Given the description of an element on the screen output the (x, y) to click on. 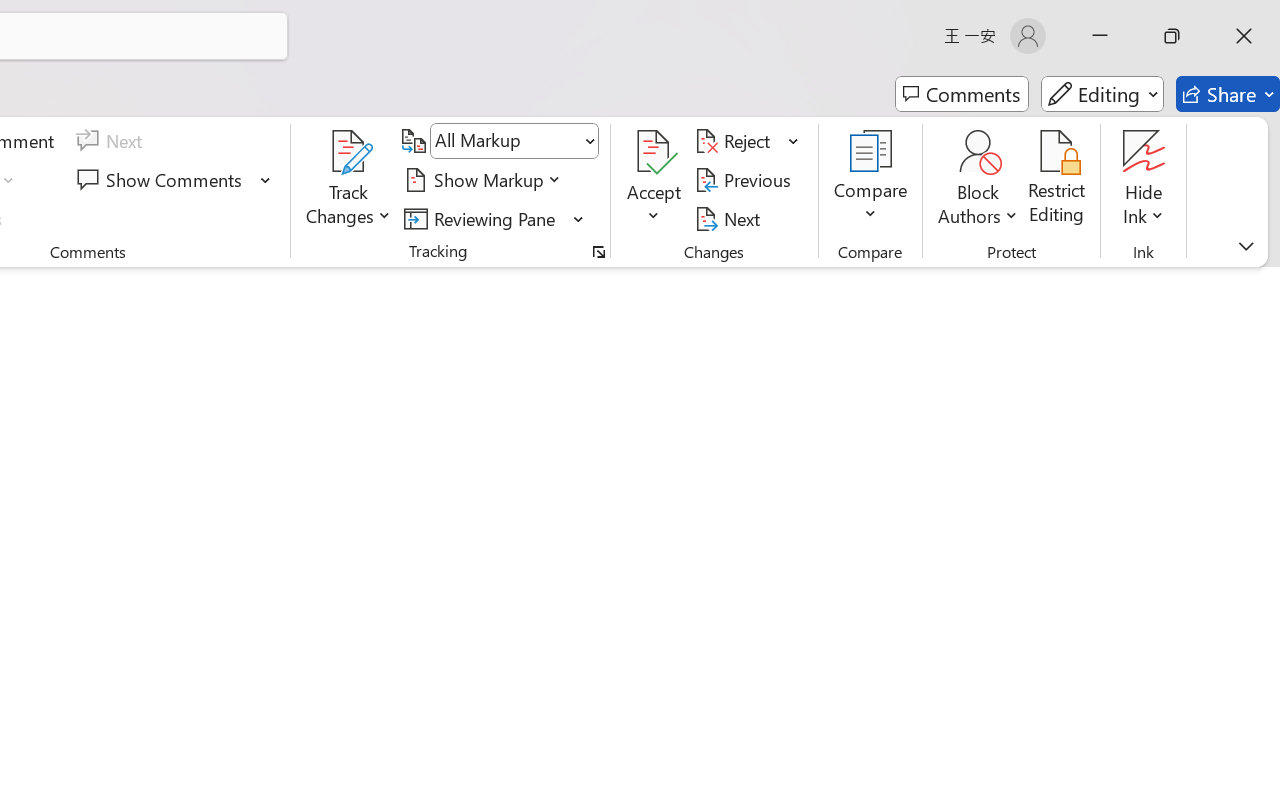
Previous (745, 179)
Close (1244, 36)
Track Changes (349, 151)
Ribbon Display Options (1246, 245)
Comments (961, 94)
Open (588, 141)
Reject (747, 141)
Show Comments (162, 179)
Show Markup (485, 179)
Share (1228, 94)
Reject and Move to Next (735, 141)
Show Comments (174, 179)
Accept (653, 179)
Restrict Editing (1057, 179)
